Given the description of an element on the screen output the (x, y) to click on. 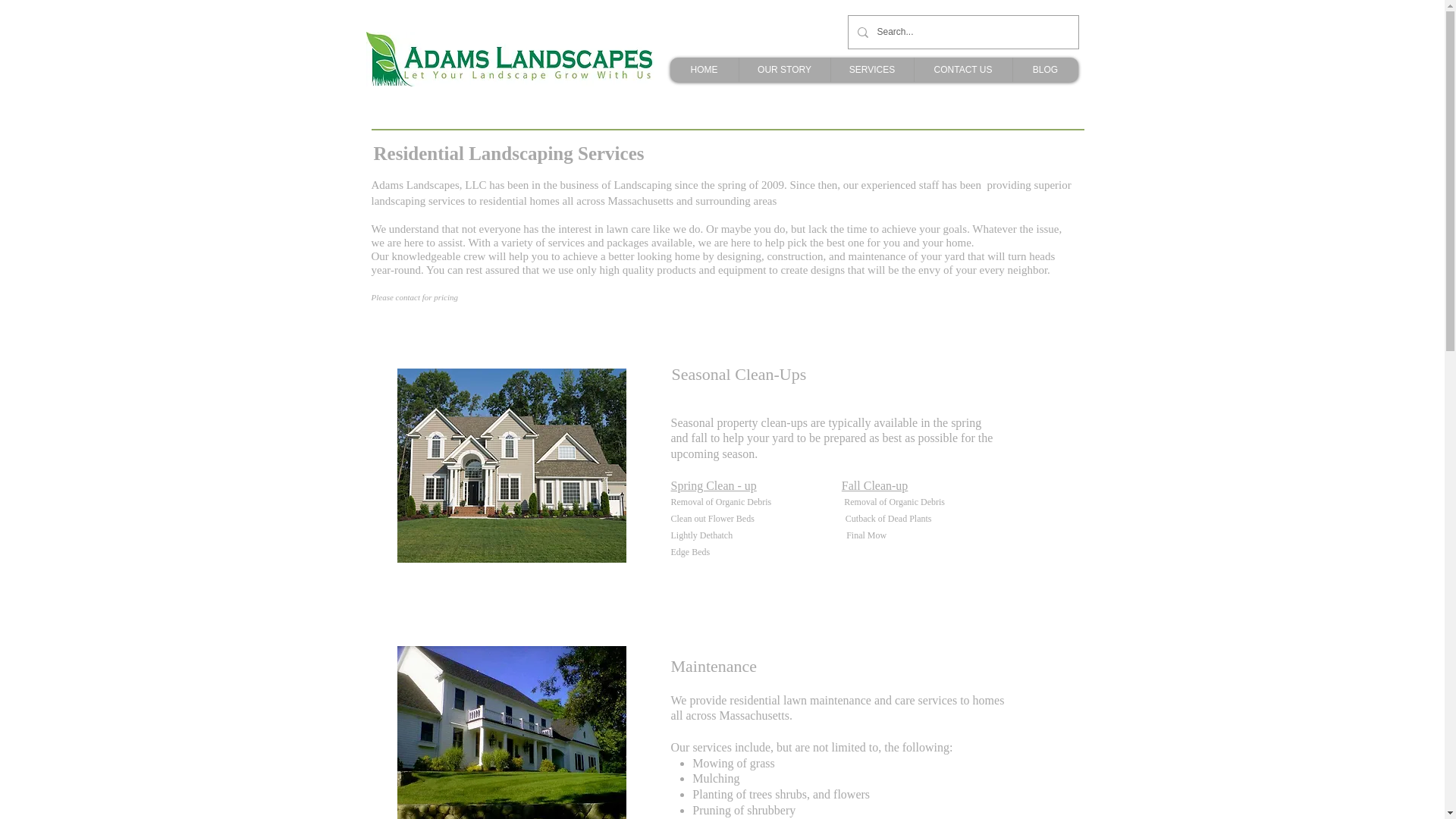
CONTACT US (961, 69)
HOME (703, 69)
BLOG (1044, 69)
SERVICES (870, 69)
OUR STORY (783, 69)
